Given the description of an element on the screen output the (x, y) to click on. 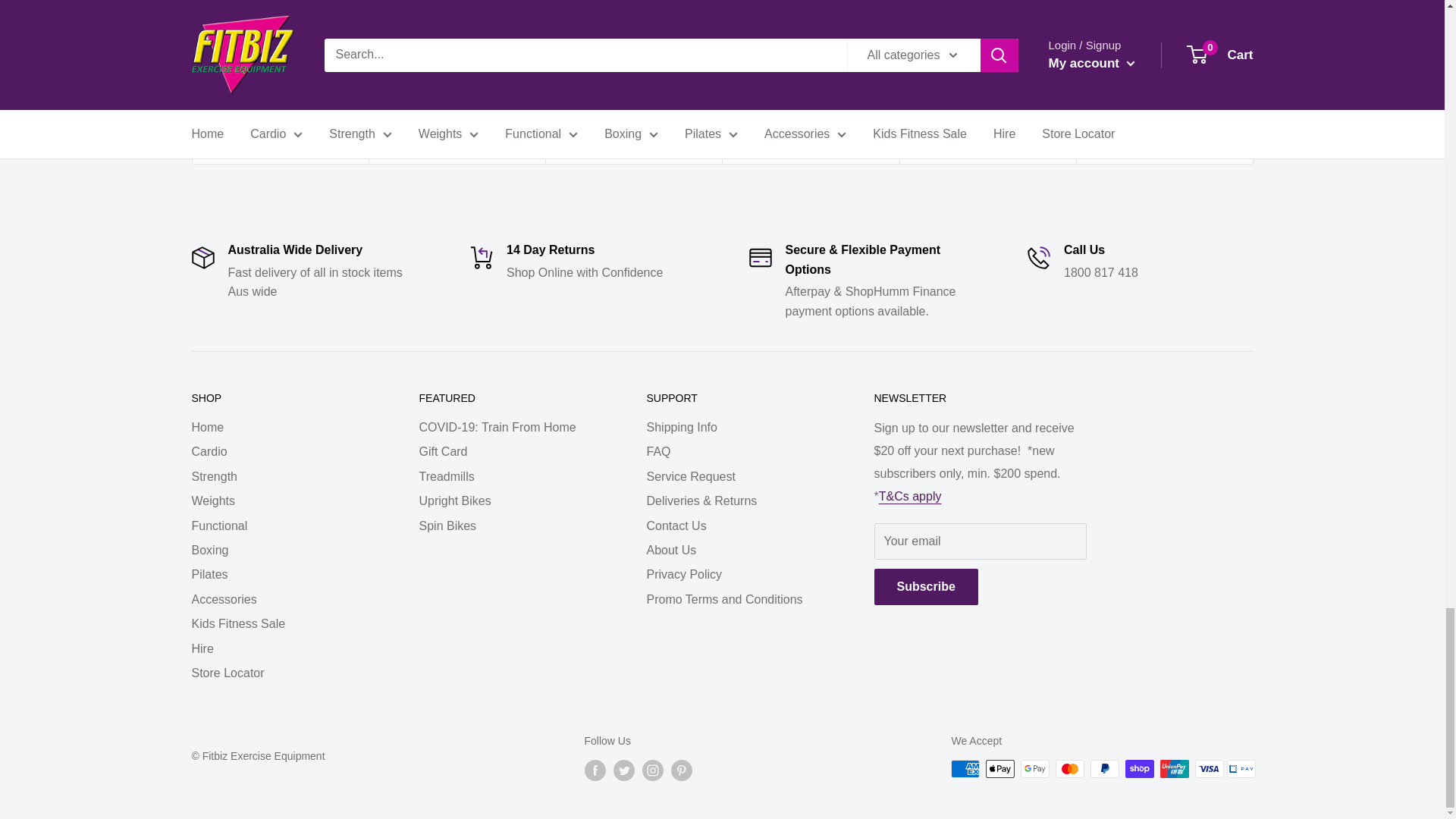
FITBIZ NEWSLETTER DISCOUNT TERMS AND CONDITIONS (910, 495)
